Given the description of an element on the screen output the (x, y) to click on. 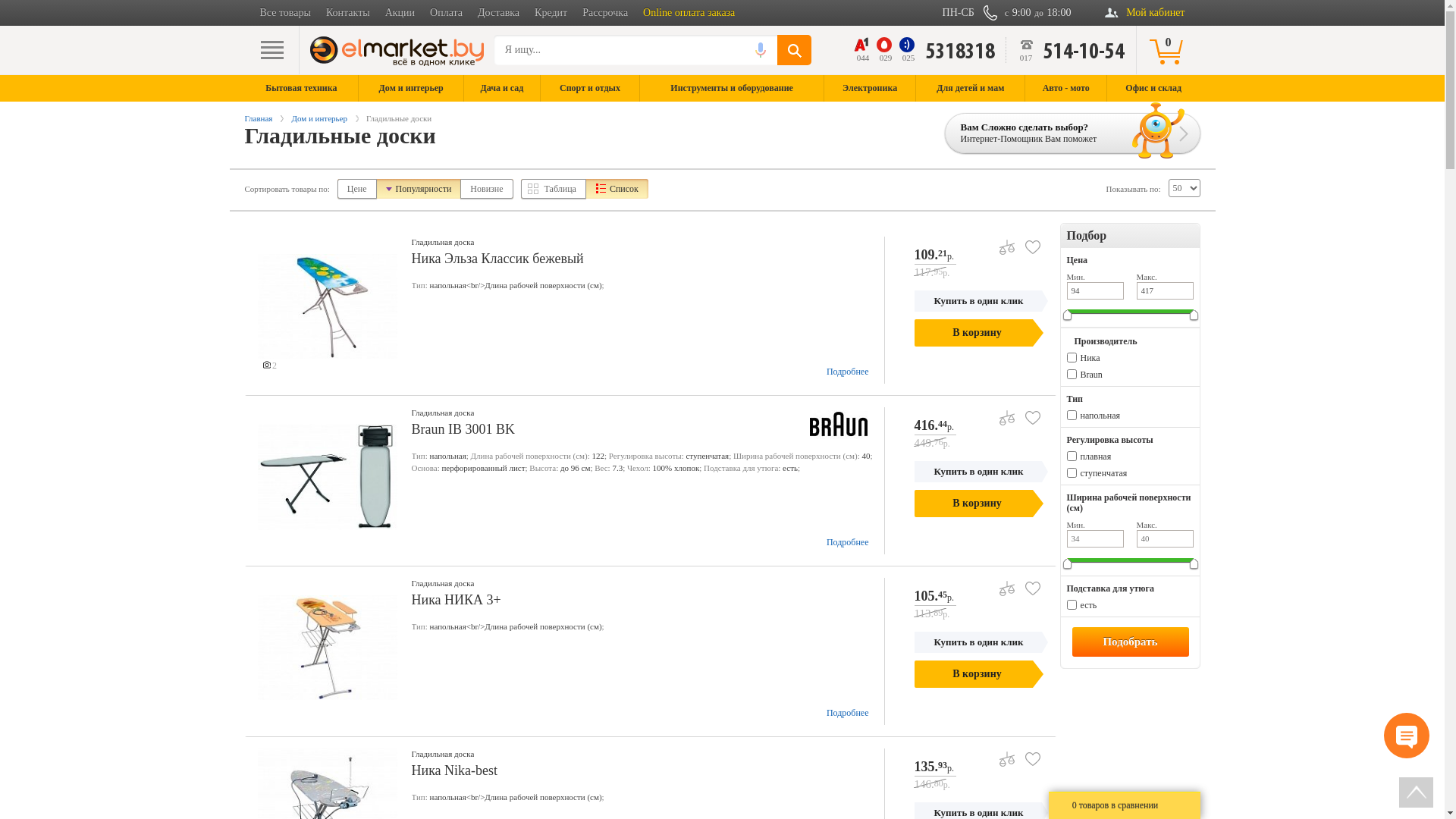
Braun Element type: text (1090, 374)
Braun IB 3001 BK Element type: text (643, 429)
0 Element type: text (1167, 49)
